Given the description of an element on the screen output the (x, y) to click on. 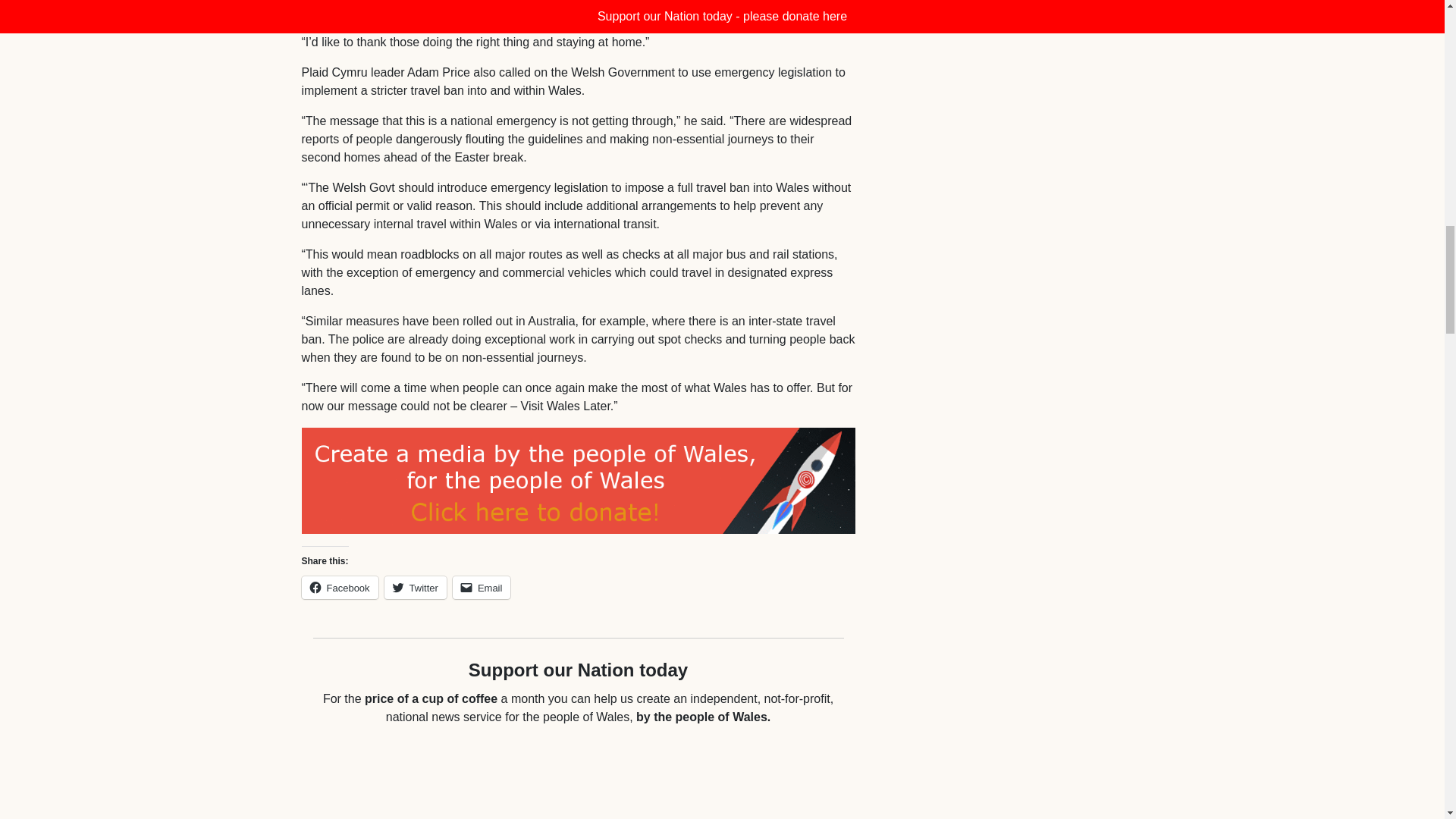
Click to email a link to a friend (481, 587)
Twitter (415, 587)
Facebook (339, 587)
Click to share on Facebook (339, 587)
Click to share on Twitter (415, 587)
Email (481, 587)
